Given the description of an element on the screen output the (x, y) to click on. 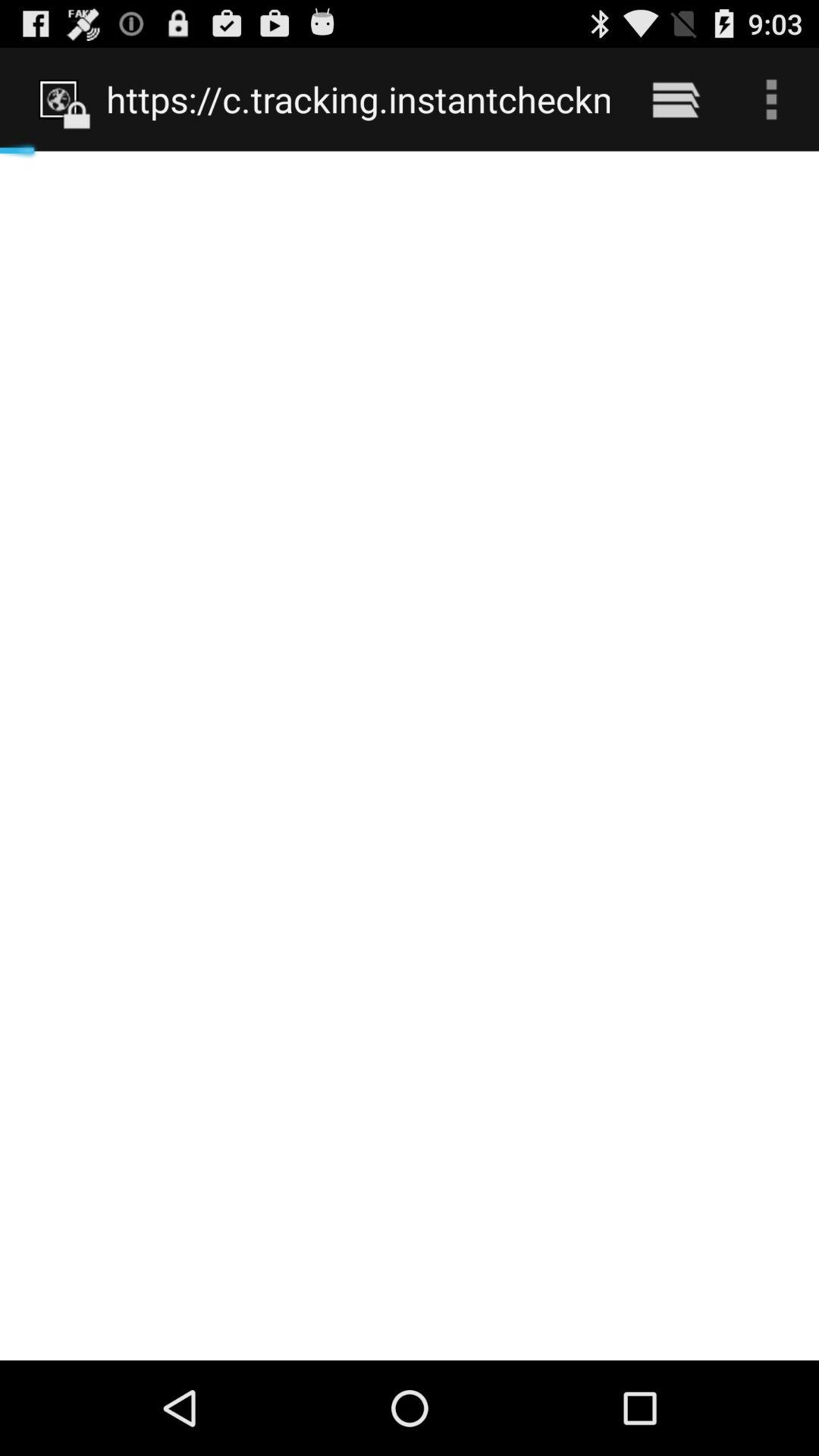
choose the item to the right of https www phone item (675, 99)
